Given the description of an element on the screen output the (x, y) to click on. 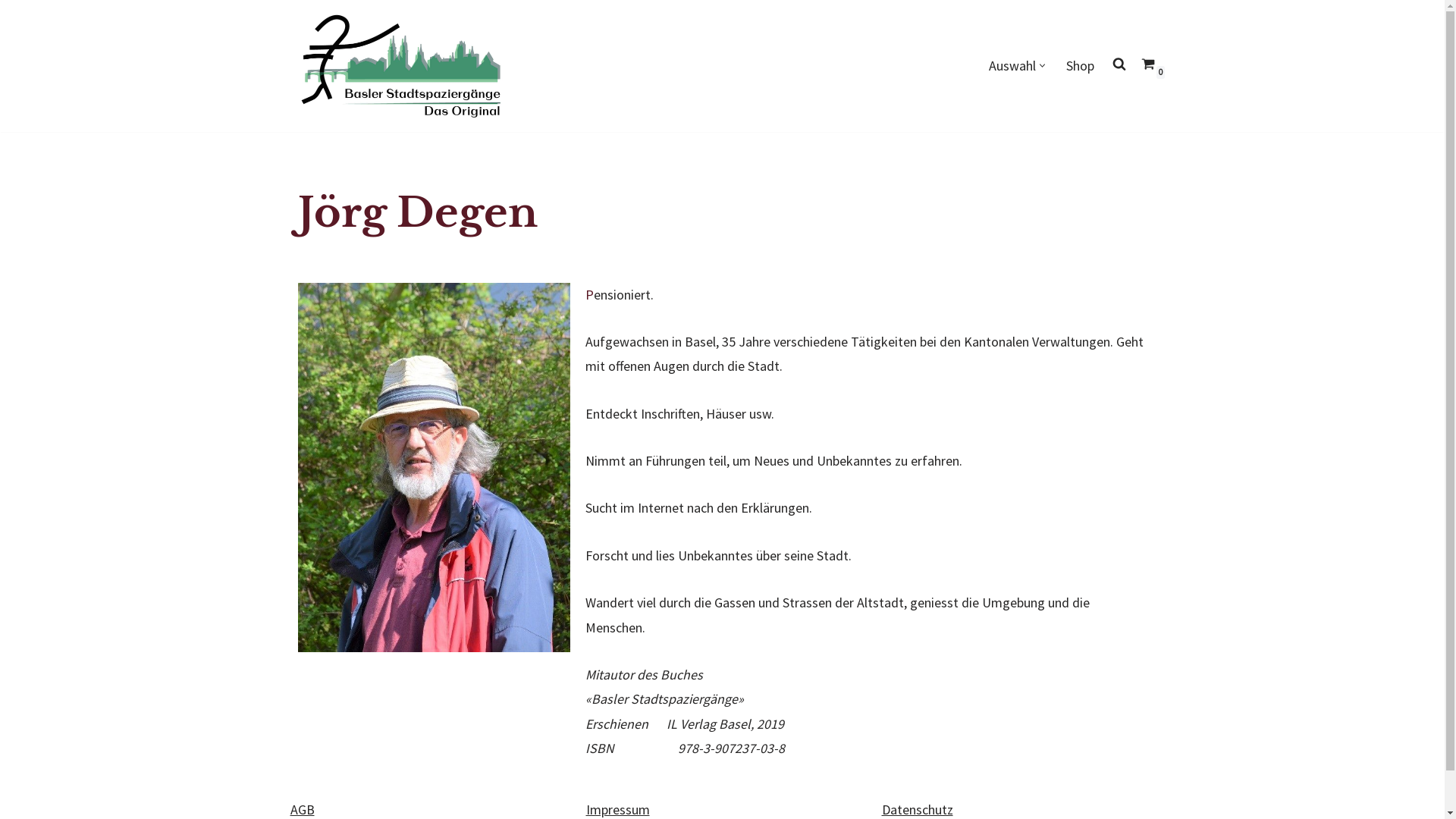
AGB Element type: text (301, 809)
0 Element type: text (1147, 63)
Datenschutz Element type: text (916, 809)
Zum Inhalt springen Element type: text (11, 31)
Impressum Element type: text (617, 809)
Auswahl Element type: text (1011, 65)
Shop Element type: text (1080, 65)
